Given the description of an element on the screen output the (x, y) to click on. 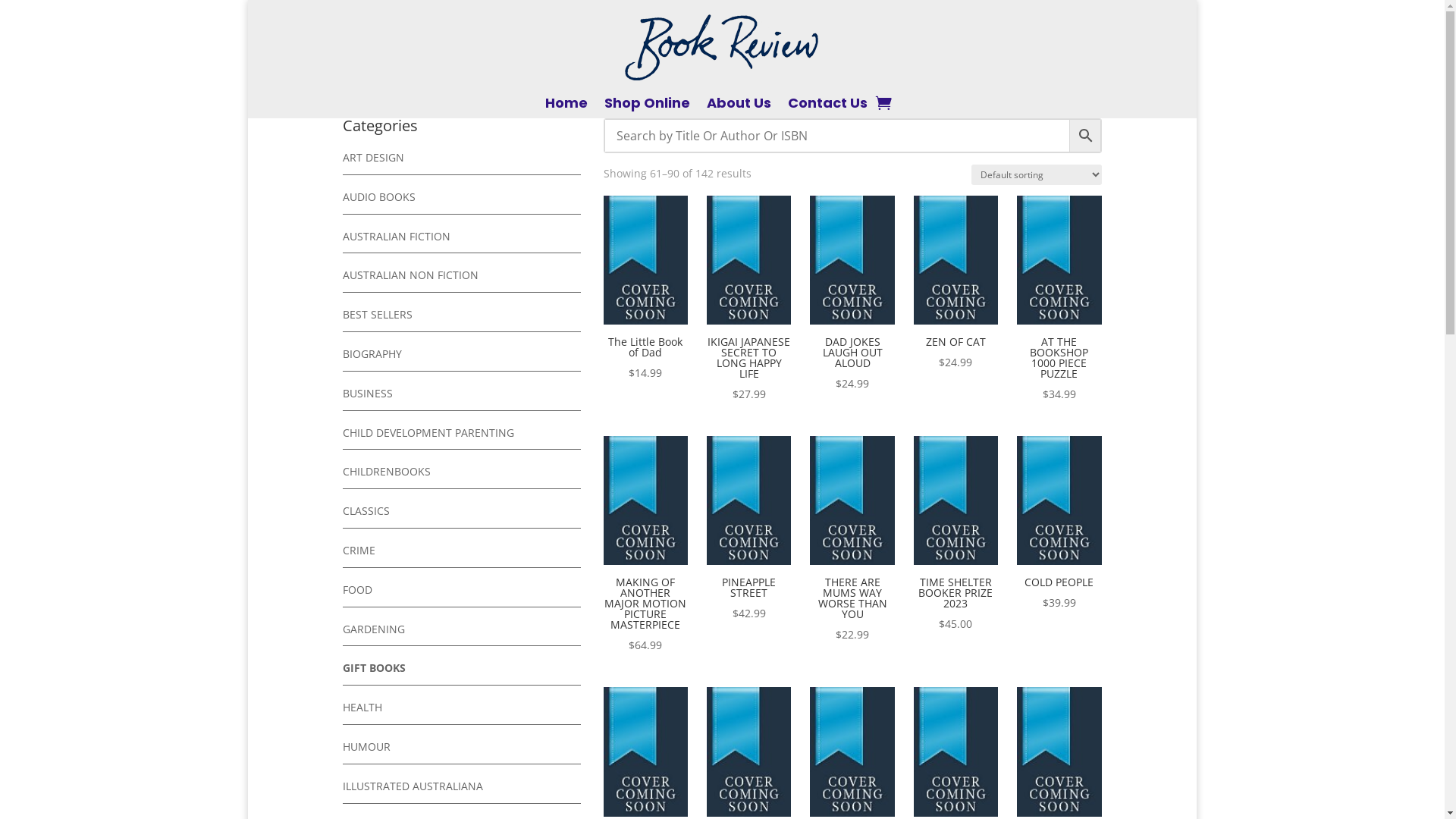
CHILDRENBOOKS Element type: text (386, 471)
THERE ARE MUMS WAY WORSE THAN YOU
$22.99 Element type: text (851, 540)
ZEN OF CAT
$24.99 Element type: text (955, 283)
CHILD DEVELOPMENT PARENTING Element type: text (428, 432)
ART DESIGN Element type: text (373, 157)
MAKING OF ANOTHER MAJOR MOTION PICTURE MASTERPIECE
$64.99 Element type: text (645, 545)
FOOD Element type: text (357, 589)
COLD PEOPLE
$39.99 Element type: text (1058, 524)
The Little Book of Dad
$14.99 Element type: text (645, 288)
PINEAPPLE STREET
$42.99 Element type: text (748, 529)
IKIGAI JAPANESE SECRET TO LONG HAPPY LIFE
$27.99 Element type: text (748, 299)
ILLUSTRATED AUSTRALIANA Element type: text (412, 785)
Contact Us Element type: text (827, 105)
CRIME Element type: text (358, 549)
BIOGRAPHY Element type: text (371, 353)
AT THE BOOKSHOP 1000 PIECE PUZZLE
$34.99 Element type: text (1058, 299)
AUSTRALIAN NON FICTION Element type: text (410, 274)
TIME SHELTER BOOKER PRIZE 2023
$45.00 Element type: text (955, 534)
CLASSICS Element type: text (365, 510)
HEALTH Element type: text (362, 706)
BUSINESS Element type: text (367, 392)
DAD JOKES LAUGH OUT ALOUD
$24.99 Element type: text (851, 294)
About Us Element type: text (738, 105)
HUMOUR Element type: text (366, 746)
AUDIO BOOKS Element type: text (378, 196)
Home Element type: text (566, 105)
AUSTRALIAN FICTION Element type: text (396, 236)
Shop Online Element type: text (647, 105)
GARDENING Element type: text (373, 628)
GIFT BOOKS Element type: text (373, 667)
BEST SELLERS Element type: text (377, 314)
